Given the description of an element on the screen output the (x, y) to click on. 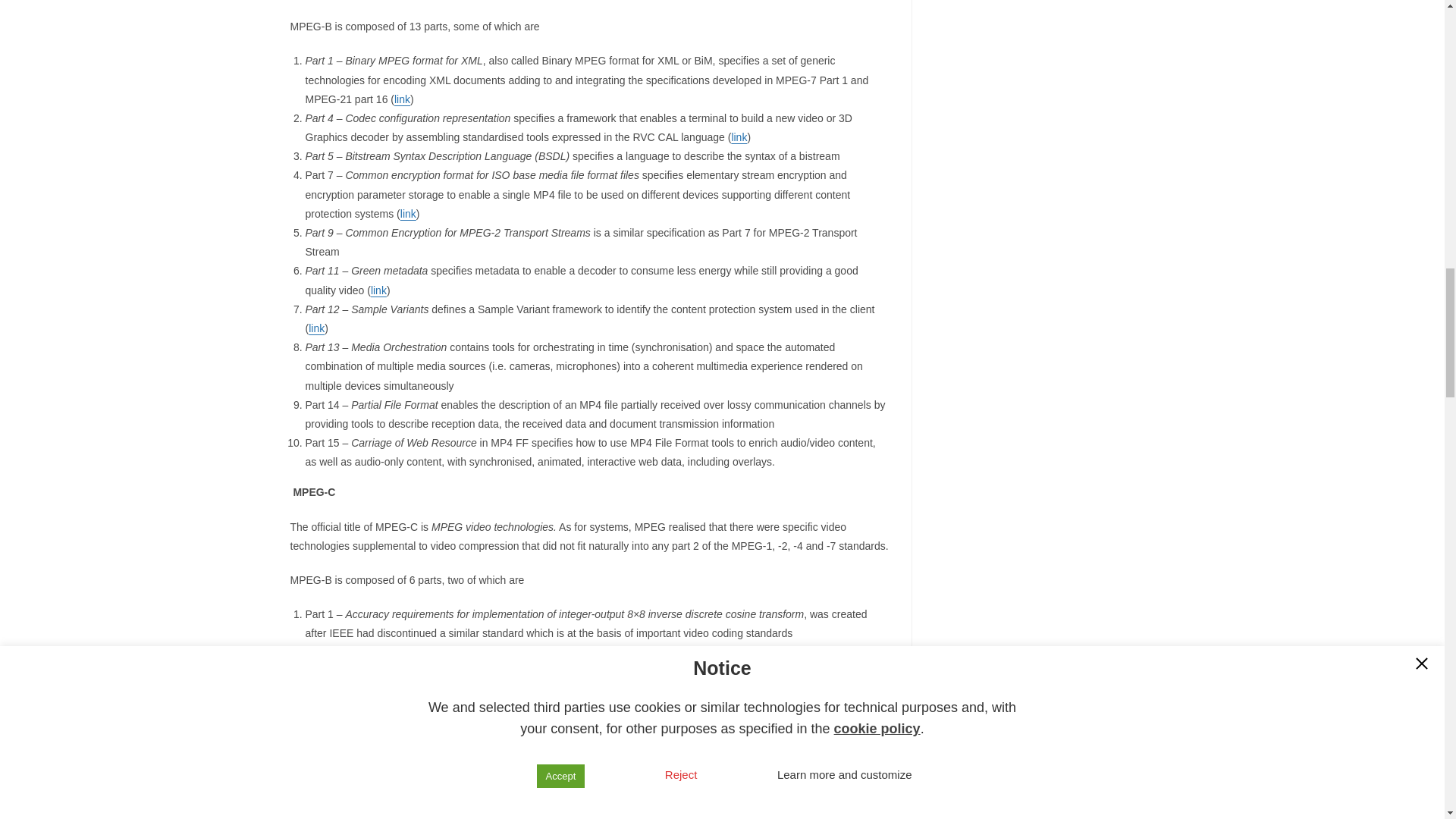
link (738, 137)
link (402, 99)
link (408, 214)
link (316, 328)
link (379, 290)
